Given the description of an element on the screen output the (x, y) to click on. 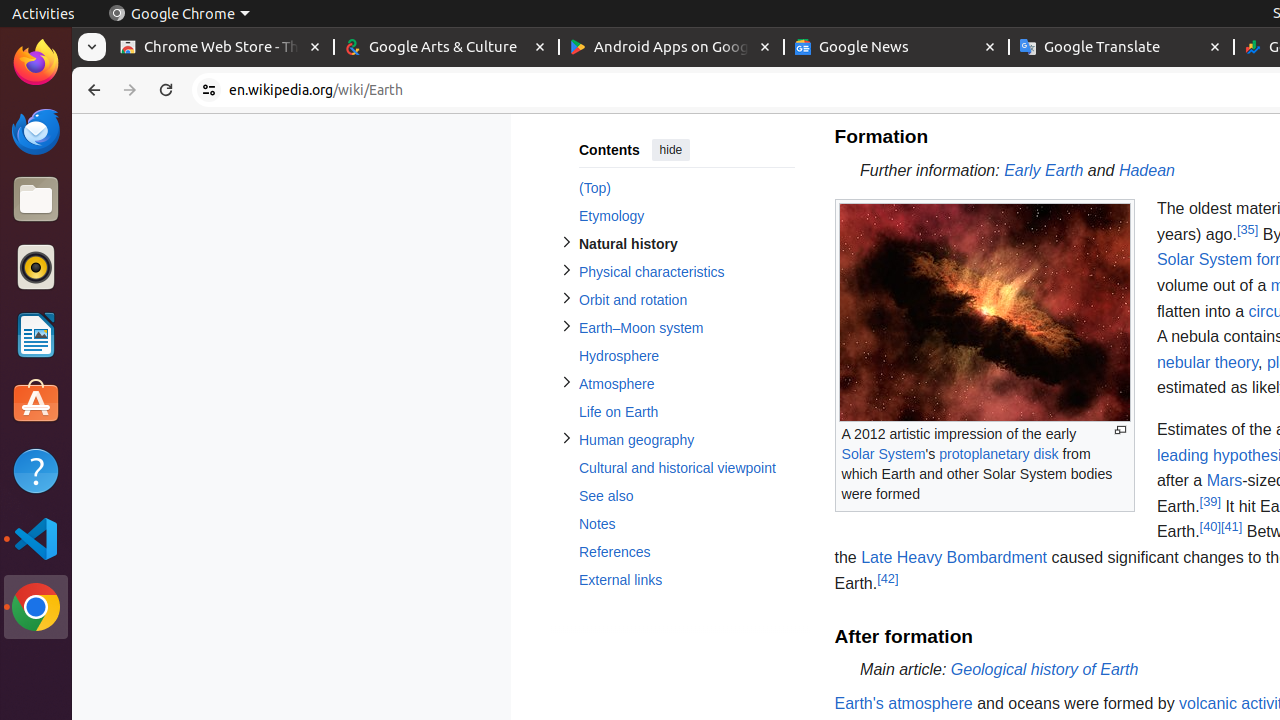
References Element type: link (686, 552)
protoplanetary disk Element type: link (999, 454)
LibreOffice Writer Element type: push-button (36, 334)
Google News - Memory usage - 55.3 MB Element type: page-tab (896, 47)
Back Element type: push-button (91, 90)
